Given the description of an element on the screen output the (x, y) to click on. 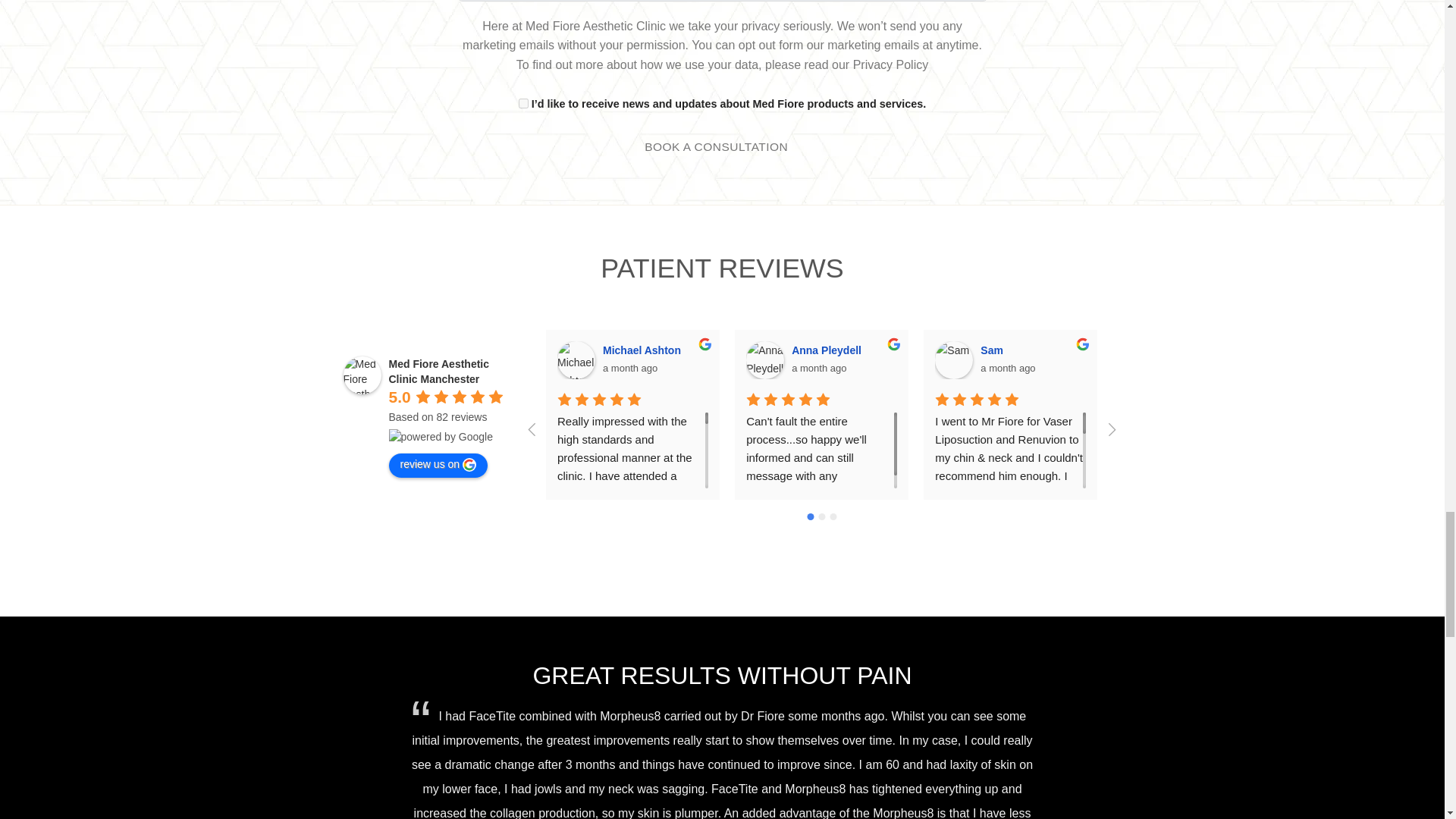
Anna Pleydell (764, 360)
Beth Whittaker (1142, 360)
Michael Ashton (576, 360)
Sam (953, 360)
Med Fiore Aesthetic Clinic Manchester (361, 374)
powered by Google (440, 436)
Paul Ingram (1332, 360)
